Given the description of an element on the screen output the (x, y) to click on. 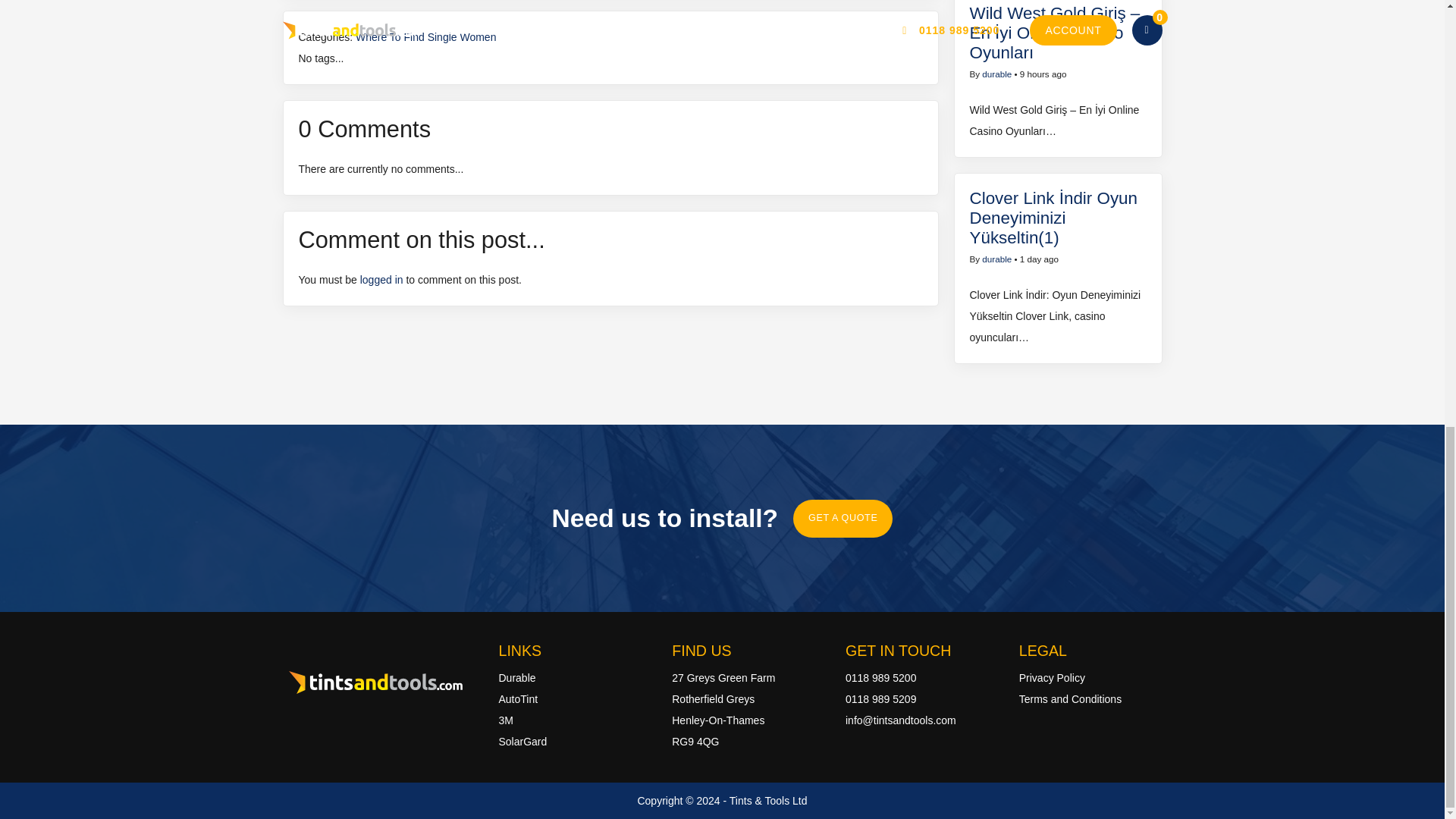
logged in (381, 279)
durable (996, 258)
Where To Find Single Women (425, 37)
durable (996, 73)
GET A QUOTE (842, 518)
